Given the description of an element on the screen output the (x, y) to click on. 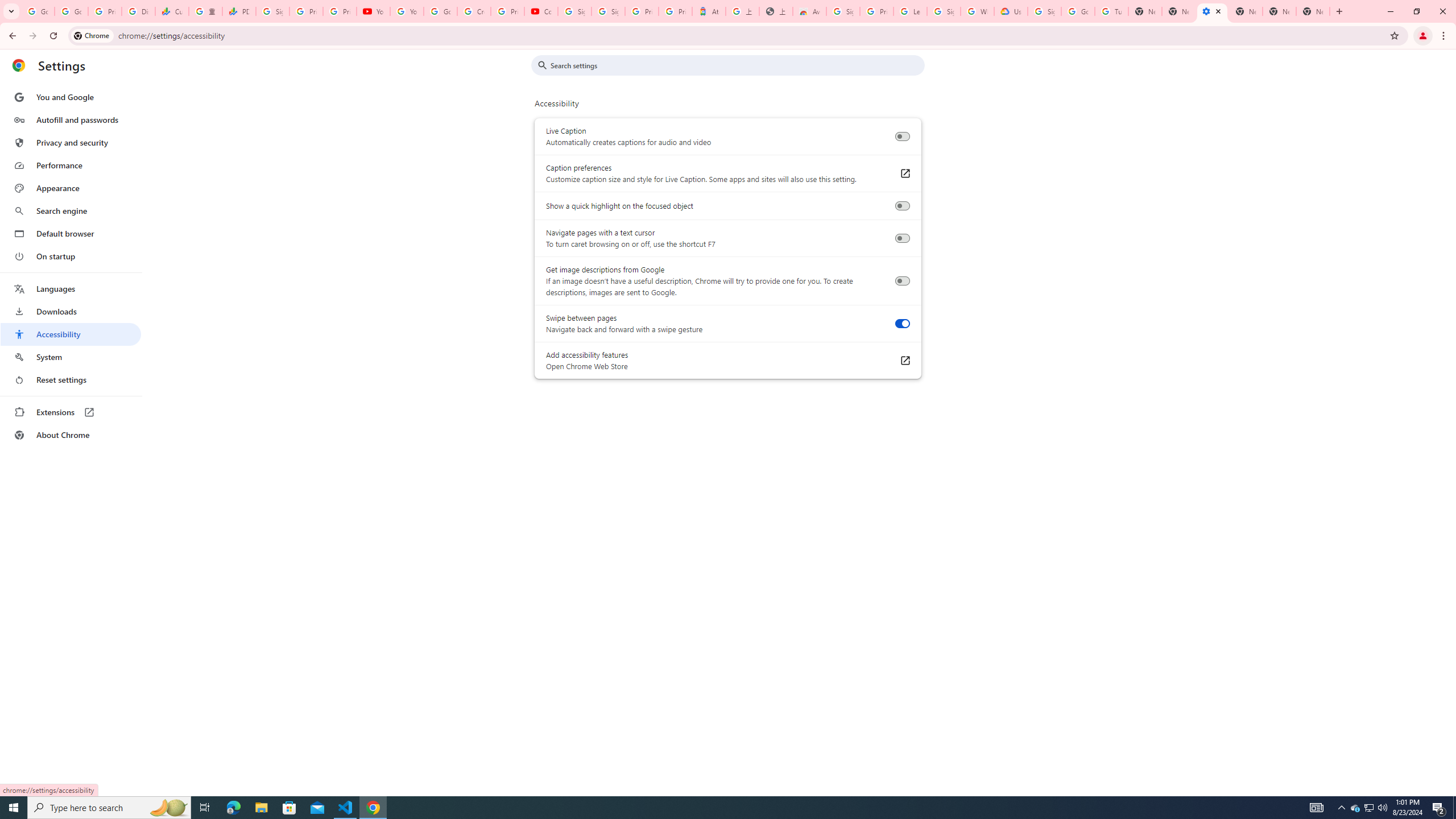
Sign in - Google Accounts (1043, 11)
Google Workspace Admin Community (37, 11)
Who are Google's partners? - Privacy and conditions - Google (976, 11)
Sign in - Google Accounts (272, 11)
On startup (70, 255)
Sign in - Google Accounts (574, 11)
Awesome Screen Recorder & Screenshot - Chrome Web Store (809, 11)
